Given the description of an element on the screen output the (x, y) to click on. 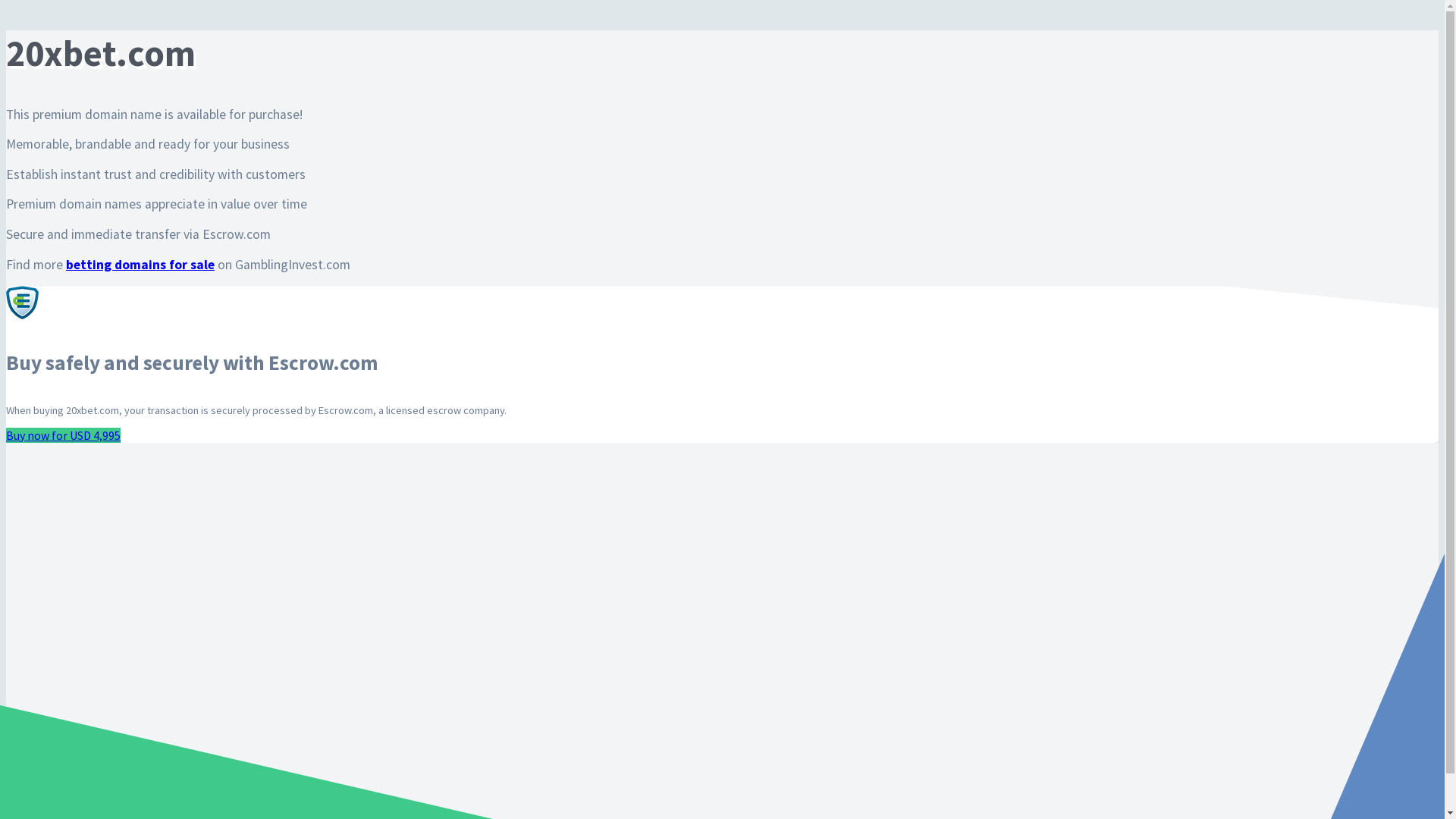
betting domains for sale Element type: text (139, 264)
Buy now for USD 4,995 Element type: text (63, 434)
